Given the description of an element on the screen output the (x, y) to click on. 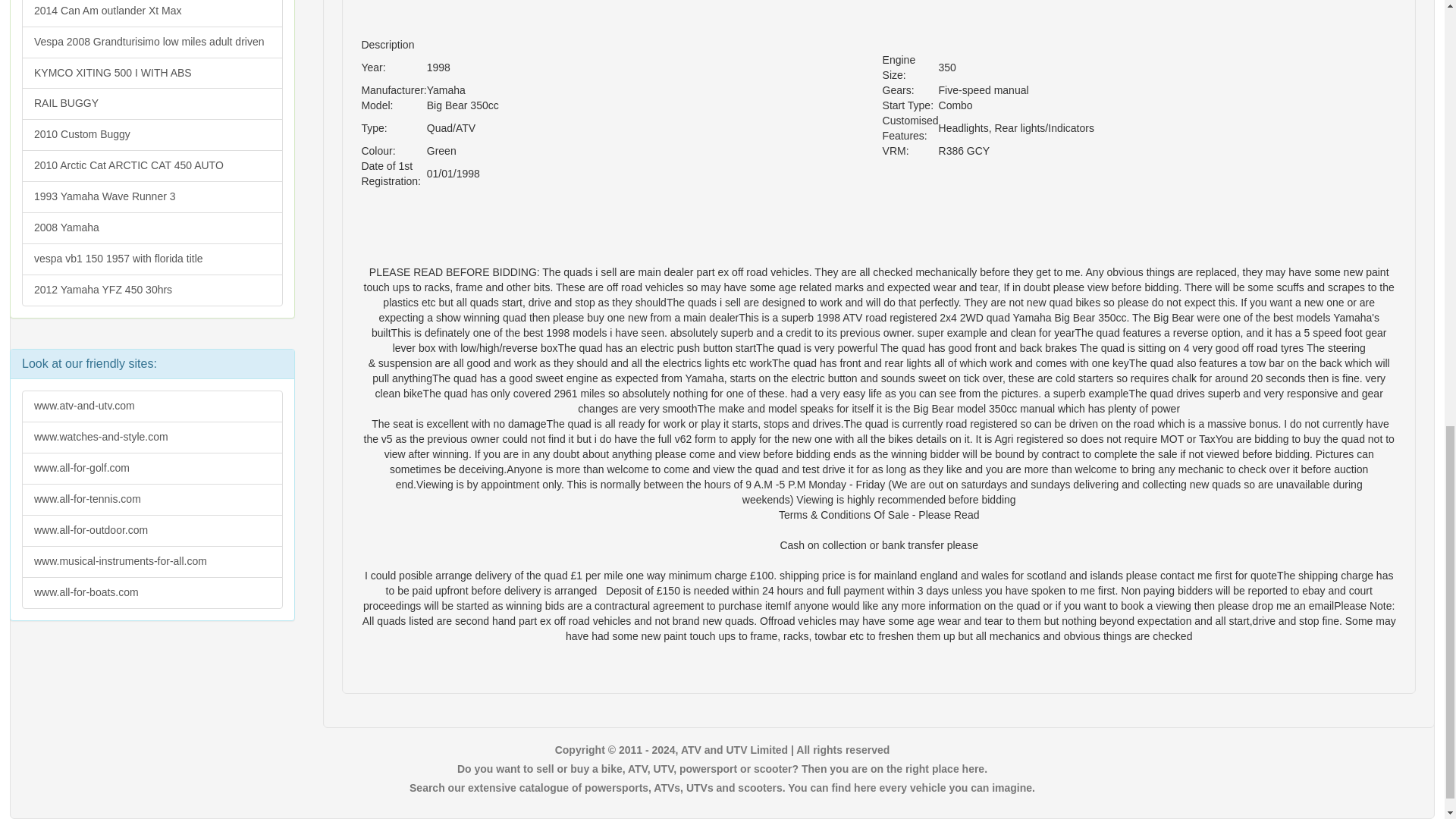
www.all-for-outdoor.com (151, 531)
2014 Can Am outlander Xt Max (151, 13)
Vespa 2008 Grandturisimo low miles adult driven (151, 42)
www.all-for-golf.com (151, 468)
vespa vb1 150 1957 with florida title (151, 259)
www.watches-and-style.com (151, 437)
www.atv-and-utv.com (151, 406)
www.all-for-tennis.com (151, 499)
2010 Custom Buggy (151, 134)
www.musical-instruments-for-all.com (151, 562)
RAIL BUGGY (151, 103)
2008 Yamaha (151, 228)
2012 Yamaha YFZ 450 30hrs (151, 290)
2010 Arctic Cat ARCTIC CAT 450 AUTO (151, 165)
www.all-for-boats.com (151, 593)
